Given the description of an element on the screen output the (x, y) to click on. 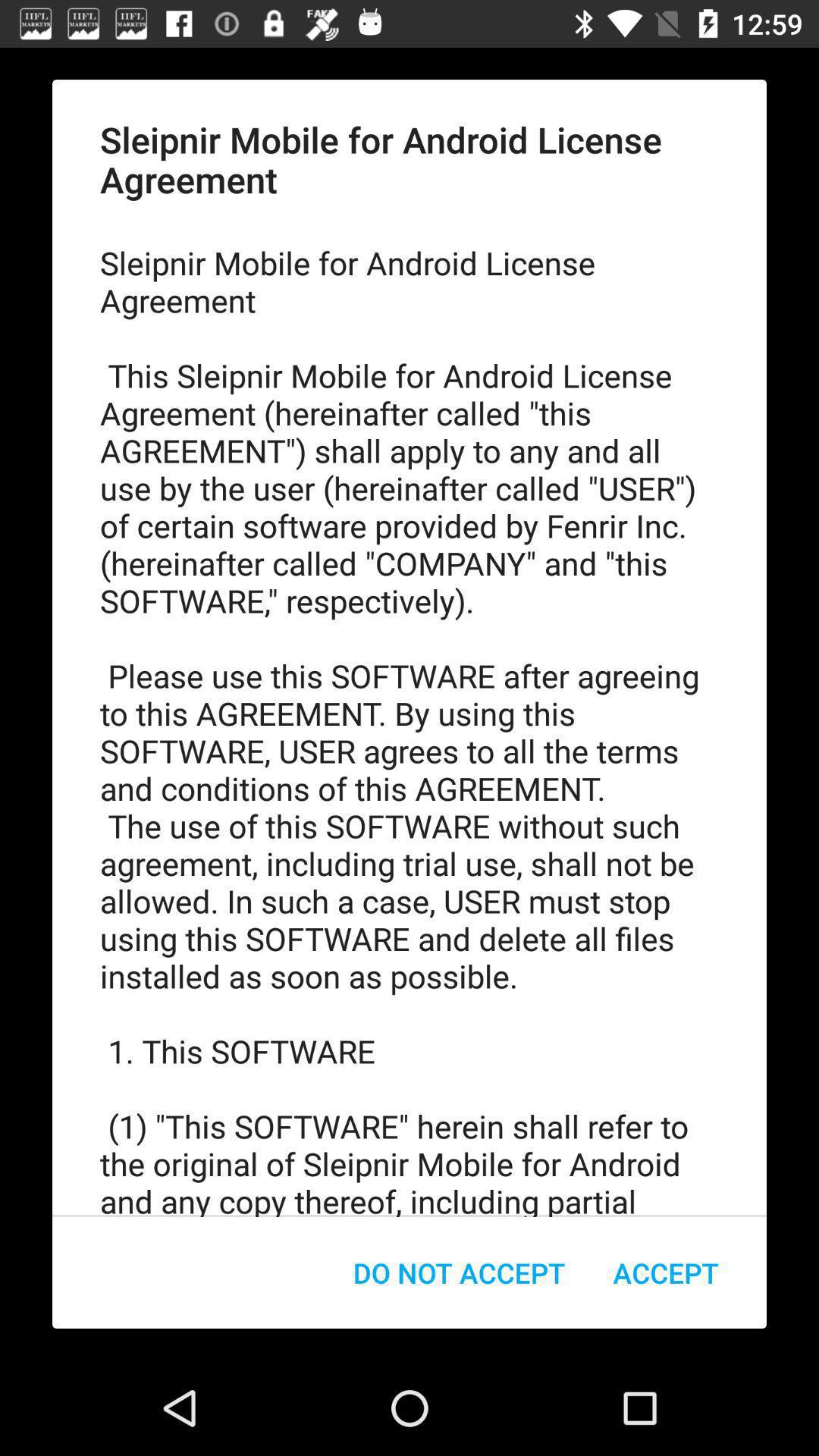
choose icon to the left of the accept (459, 1272)
